Given the description of an element on the screen output the (x, y) to click on. 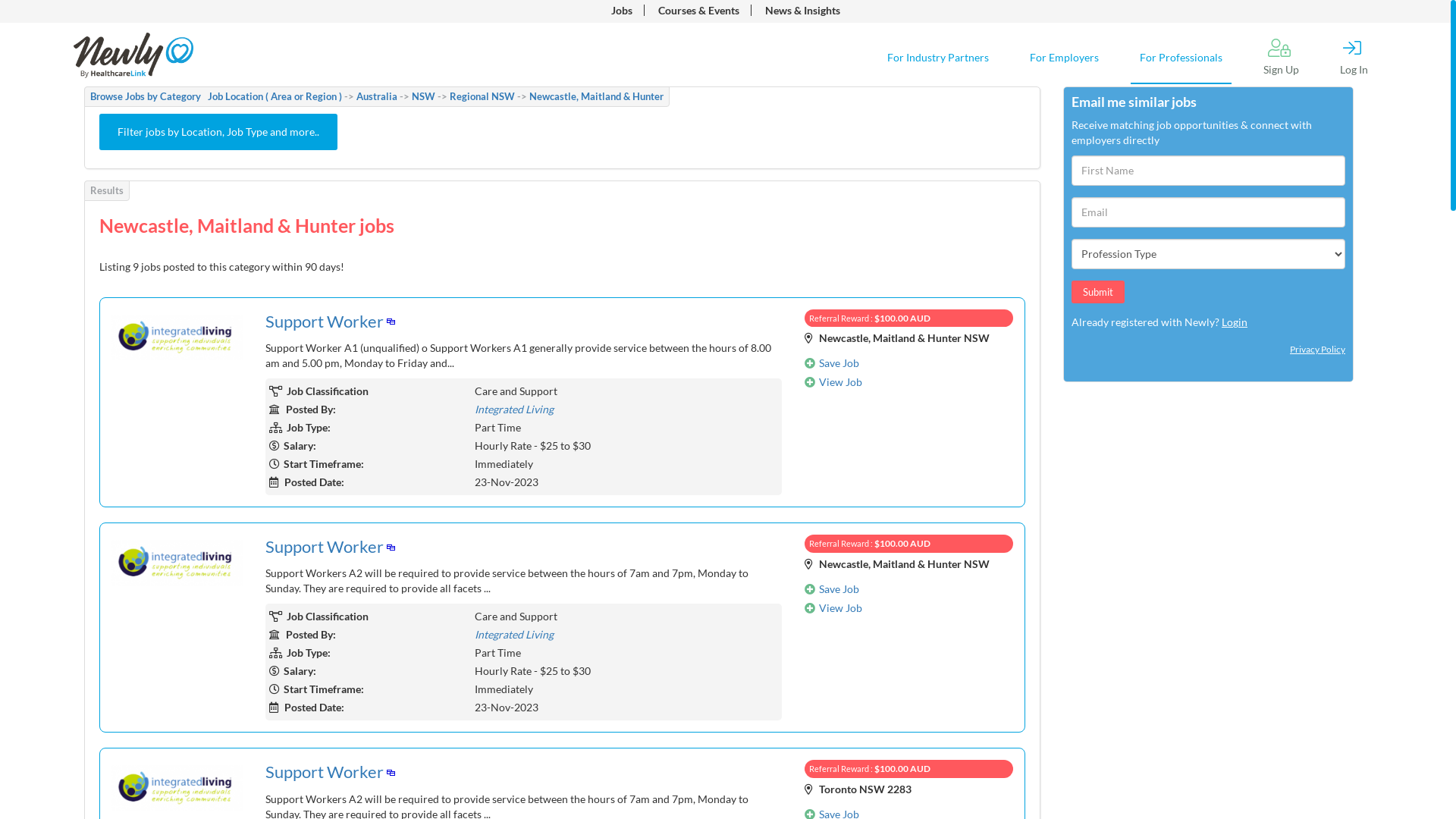
Courses & Events Element type: text (698, 9)
Save Job Element type: text (839, 362)
NSW Element type: text (423, 96)
Integrated Living Element type: text (513, 408)
Regional NSW Element type: text (481, 96)
Newcastle, Maitland & Hunter Element type: text (596, 96)
Integrated Living Element type: text (513, 633)
Browse Jobs by Category Element type: text (145, 96)
News & Insights Element type: text (801, 9)
View Job Element type: text (840, 381)
Support Worker Element type: text (324, 320)
Support Worker Element type: text (324, 771)
For Employers Element type: text (1063, 58)
Support Worker Element type: text (324, 546)
Save Job Element type: text (839, 588)
For Professionals Element type: text (1180, 58)
Job Location ( Area or Region ) Element type: text (274, 96)
Jobs Element type: text (621, 9)
View Job Element type: text (840, 606)
Australia Element type: text (376, 96)
Filter jobs by Location, Job Type and more.. Element type: text (218, 131)
Sign Up Element type: text (1281, 57)
Log In Element type: text (1353, 57)
For Industry Partners Element type: text (937, 58)
